Given the description of an element on the screen output the (x, y) to click on. 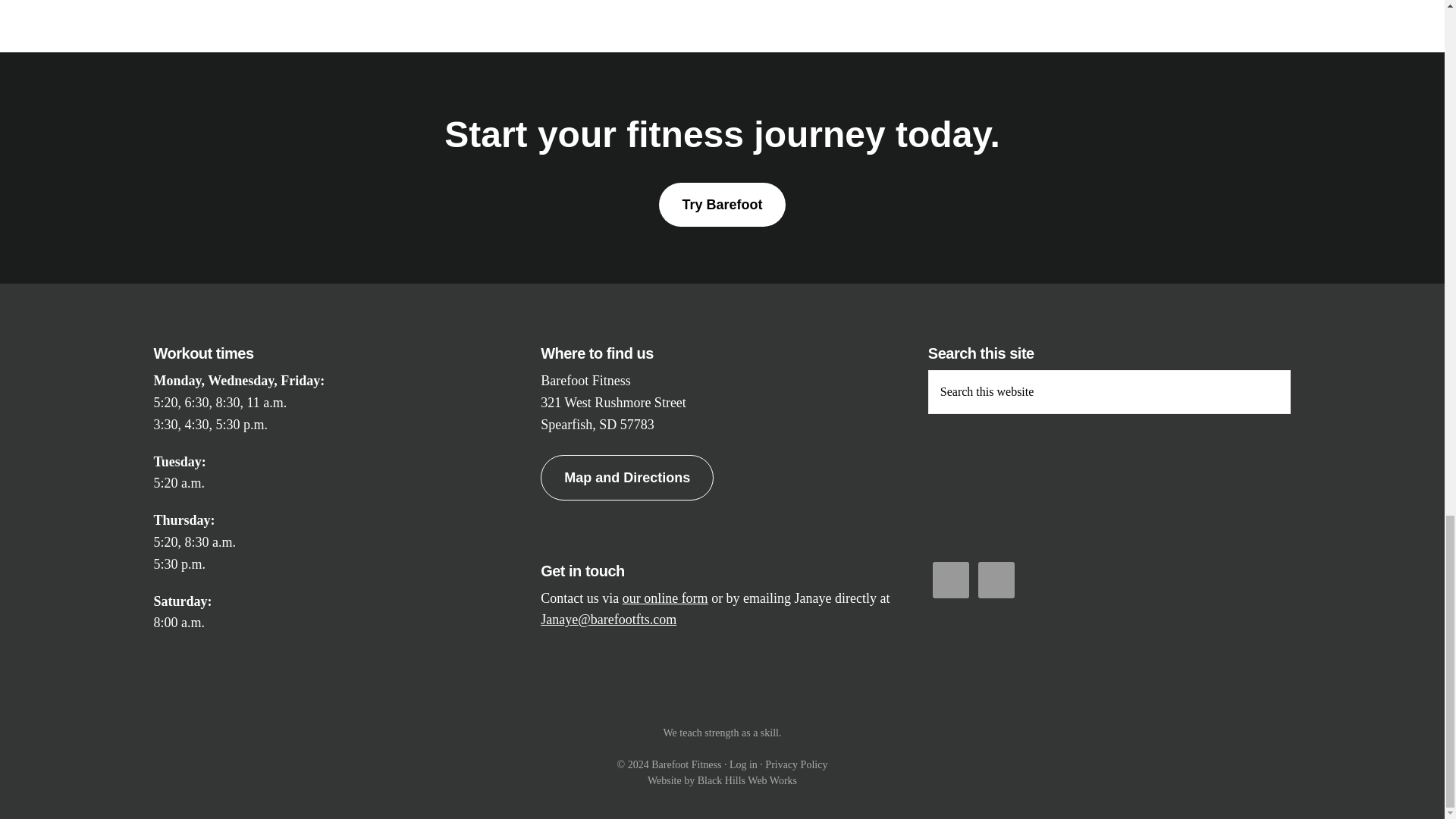
our online form (665, 598)
Map and Directions (626, 477)
Try Barefoot (721, 204)
